Given the description of an element on the screen output the (x, y) to click on. 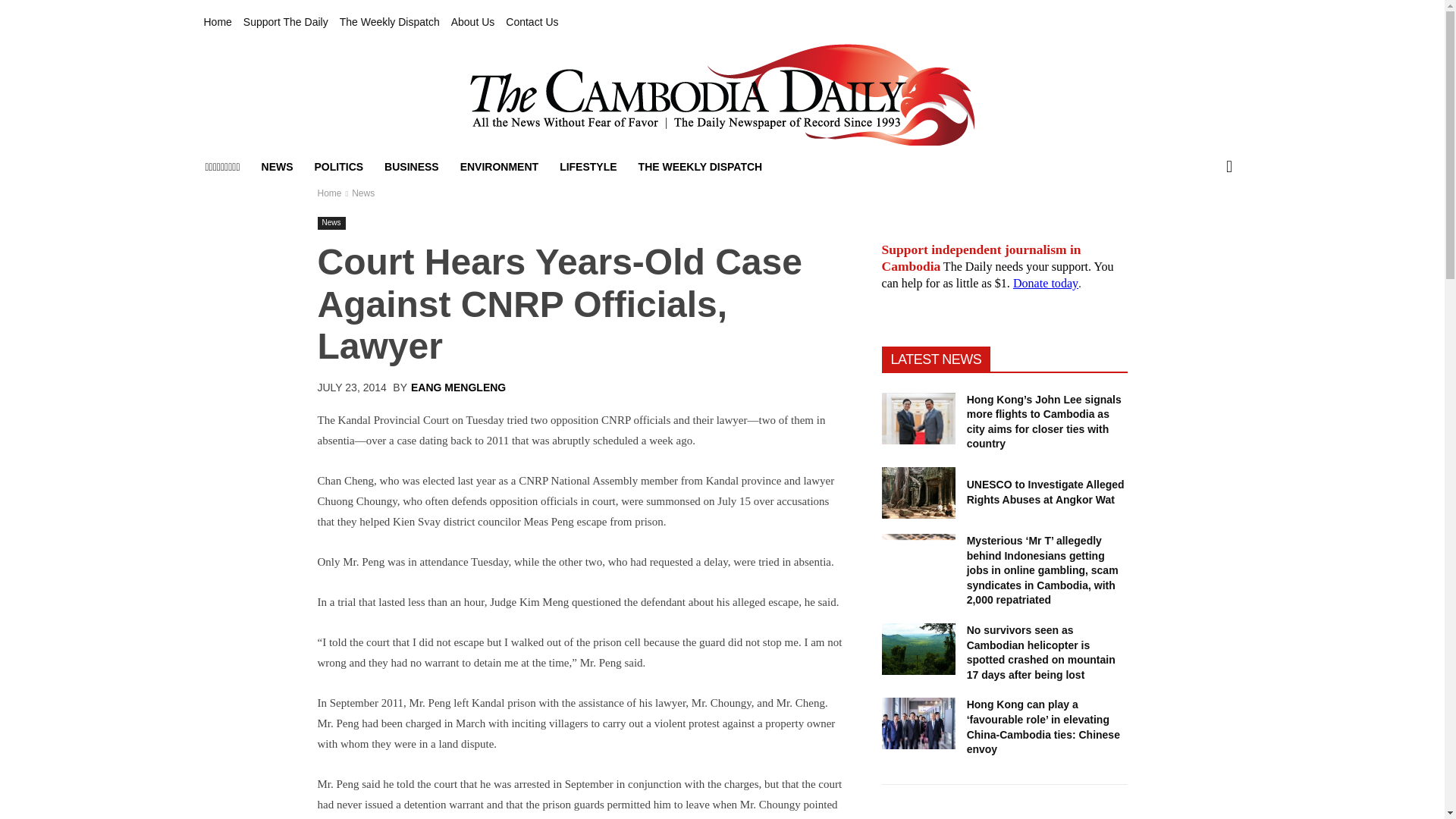
LIFESTYLE (587, 166)
Home (328, 193)
News (363, 193)
NEWS (277, 166)
Contact Us (531, 21)
Home (217, 21)
All the news without fear or favor (721, 94)
BUSINESS (411, 166)
POLITICS (339, 166)
News (331, 223)
Support The Daily (286, 21)
THE WEEKLY DISPATCH (700, 166)
All the news without fear or favor (722, 94)
EANG MENGLENG (457, 387)
View all posts in News (363, 193)
